Given the description of an element on the screen output the (x, y) to click on. 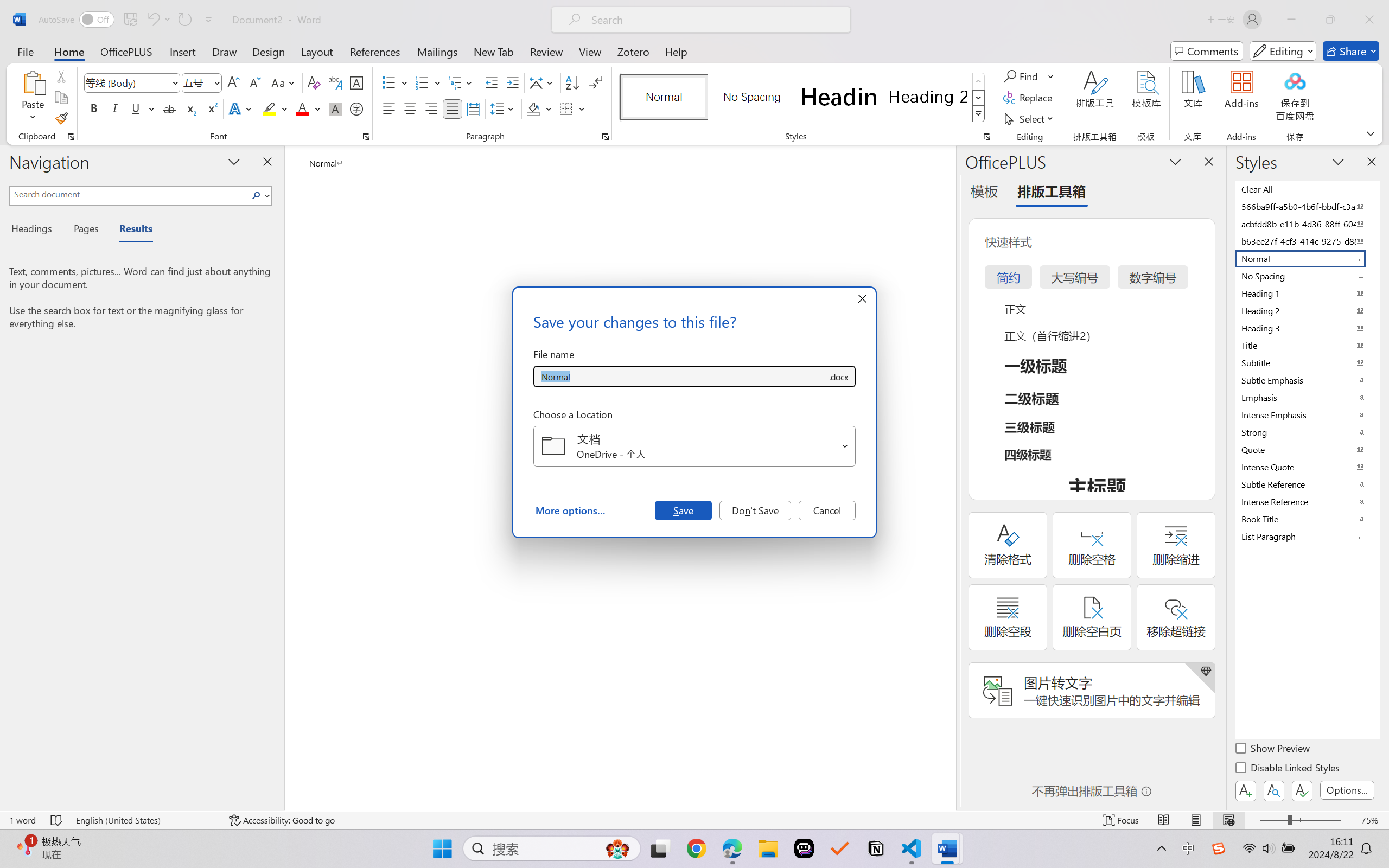
Cut (60, 75)
Class: NetUIButton (1301, 790)
Cancel (826, 509)
Clear Formatting (313, 82)
Layout (316, 51)
Disable Linked Styles (1287, 769)
Review (546, 51)
Title (1306, 345)
Language English (United States) (144, 819)
Mailings (437, 51)
AutomationID: QuickStylesGallery (802, 97)
Enclose Characters... (356, 108)
acbfdd8b-e11b-4d36-88ff-6049b138f862 (1306, 223)
